Given the description of an element on the screen output the (x, y) to click on. 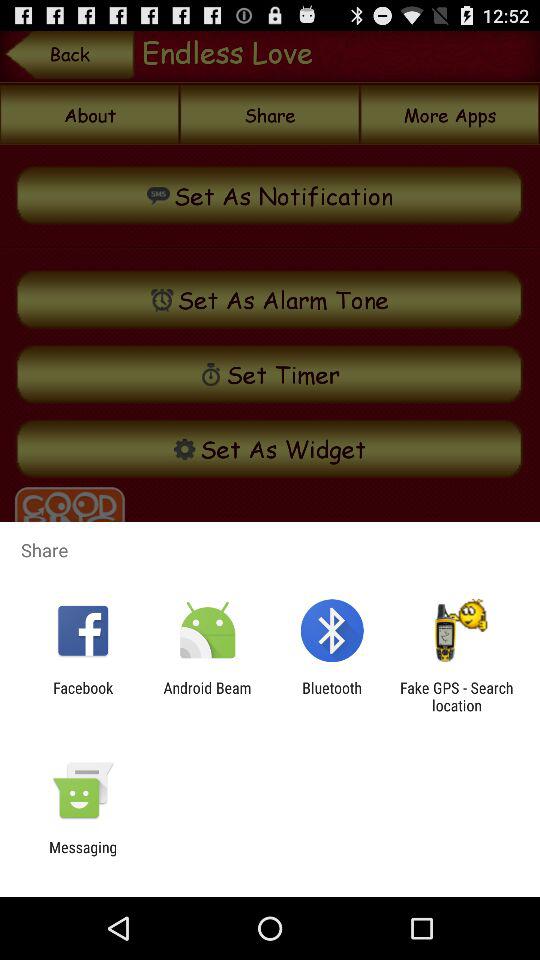
scroll to android beam icon (207, 696)
